Given the description of an element on the screen output the (x, y) to click on. 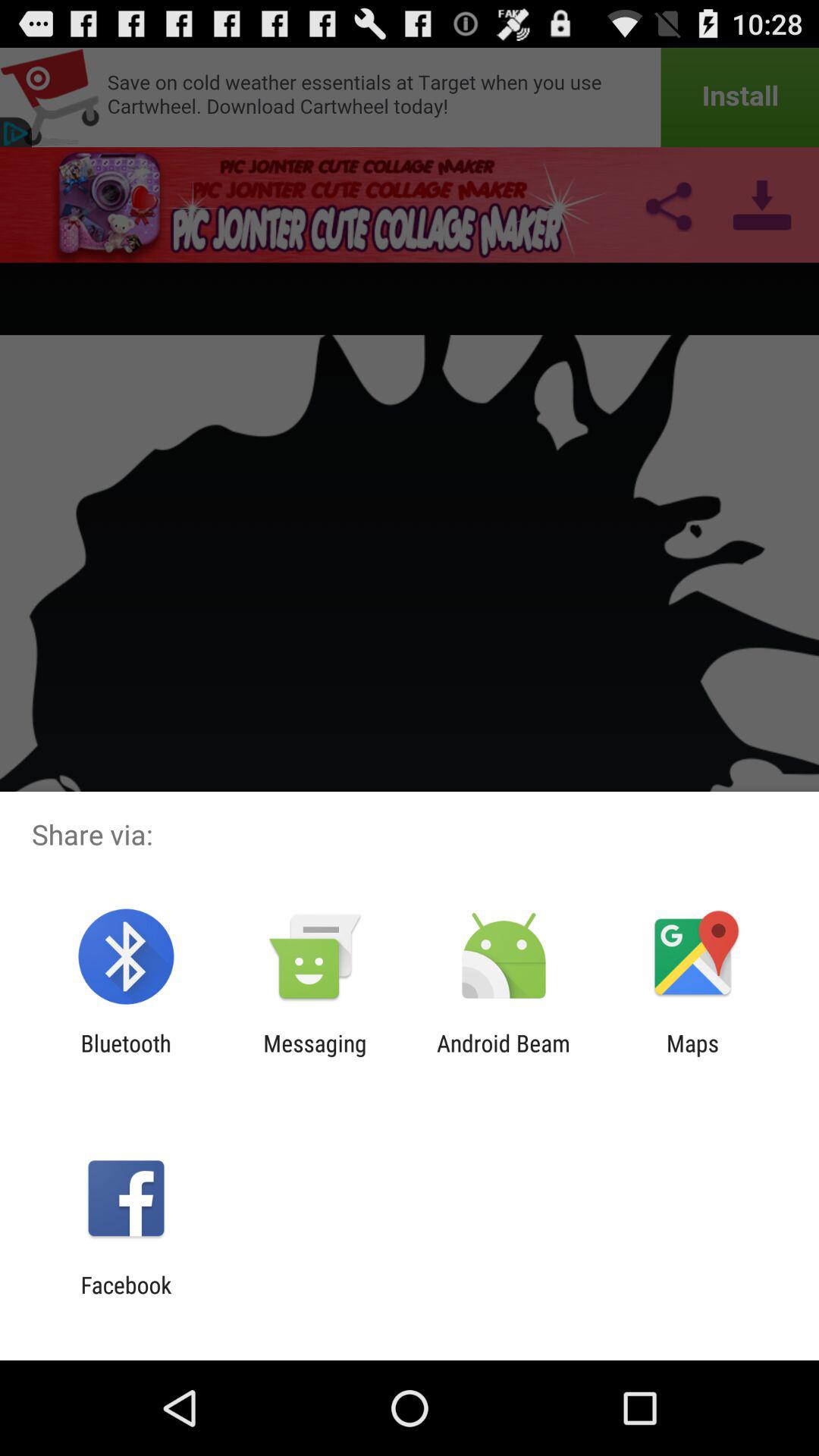
open the bluetooth icon (125, 1056)
